Given the description of an element on the screen output the (x, y) to click on. 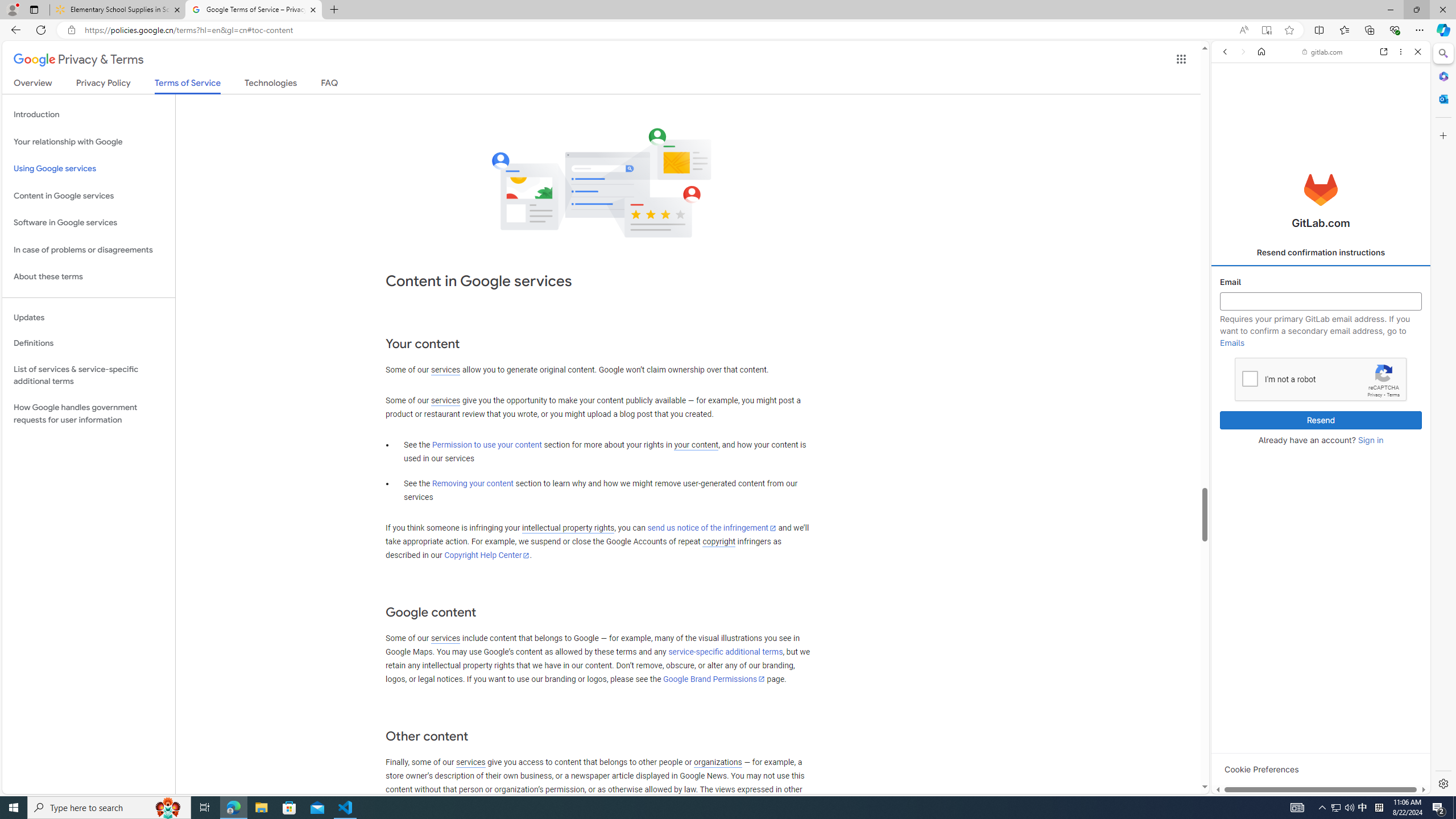
About GitLab (1320, 336)
Search Filter, ALL (1228, 129)
Dashboard (1320, 365)
About GitLab (1320, 337)
Register Now (1320, 253)
